Given the description of an element on the screen output the (x, y) to click on. 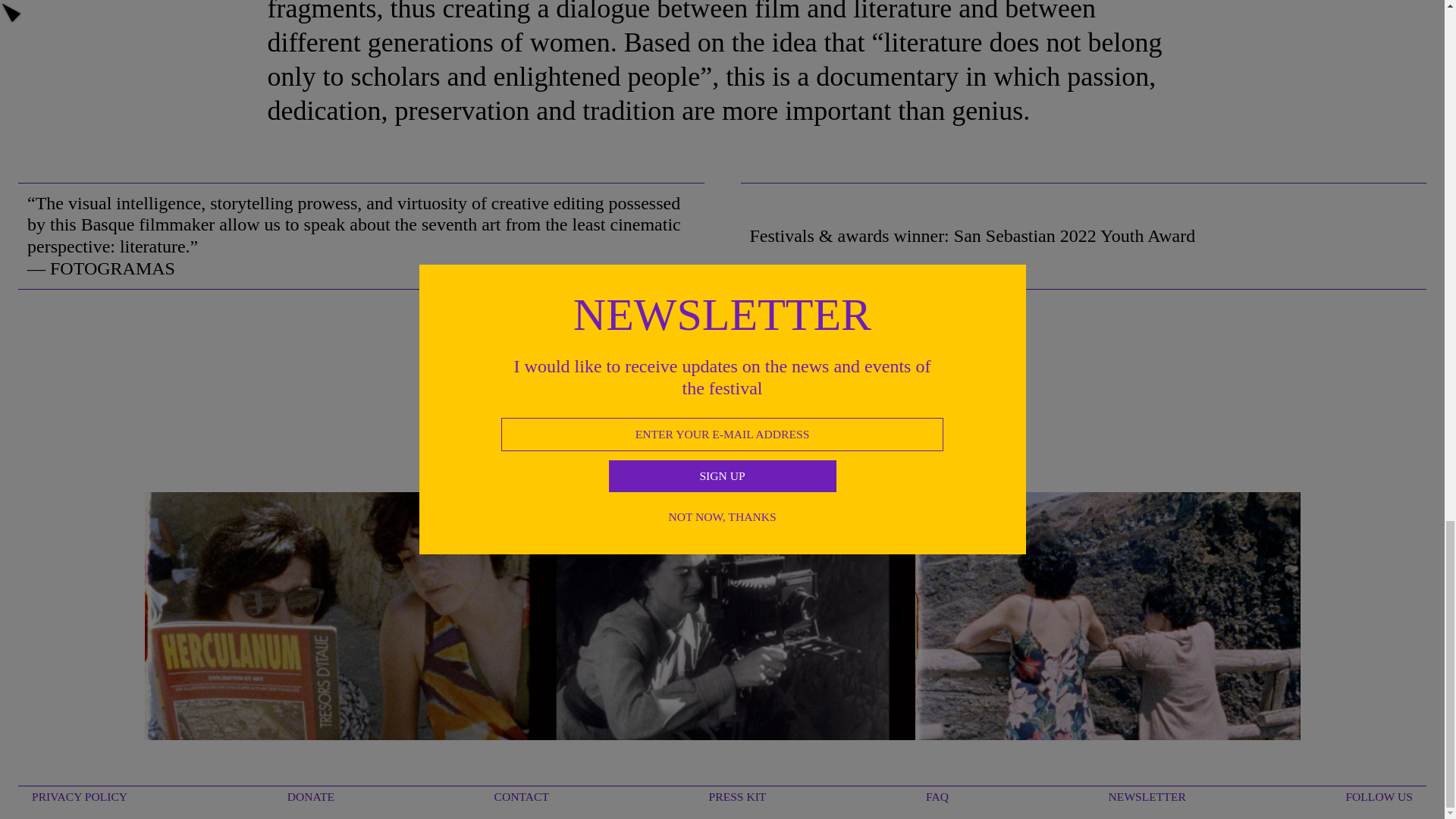
A LOS LIBROS Y A LAS MUJERES CANTO 4 (336, 620)
A LOS LIBROS Y A LAS MUJERES CANTO 2 (721, 620)
A LOS LIBROS Y A LAS MUJERES CANTO 1 (1107, 620)
